Given the description of an element on the screen output the (x, y) to click on. 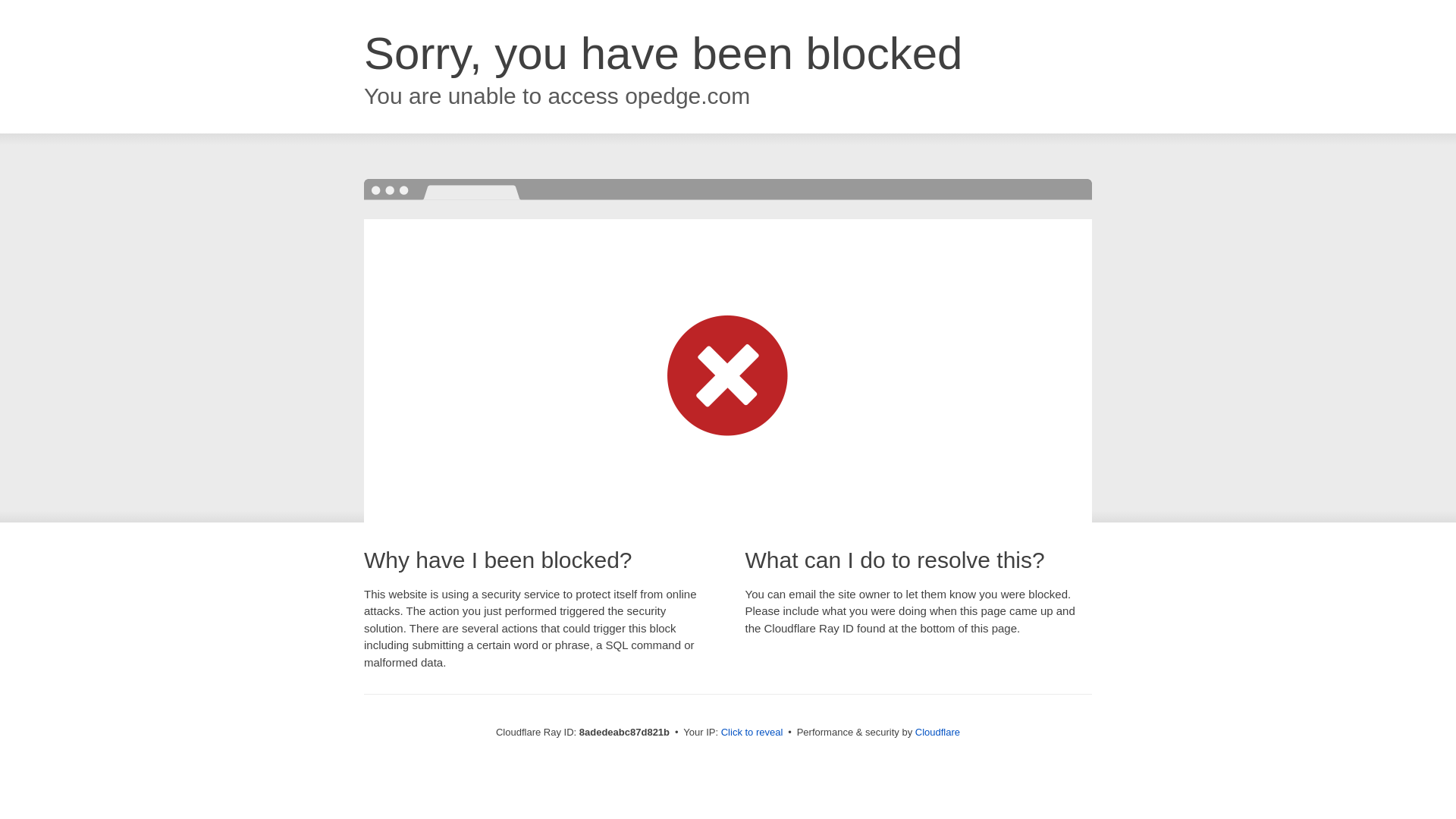
Click to reveal (751, 732)
Cloudflare (937, 731)
